Given the description of an element on the screen output the (x, y) to click on. 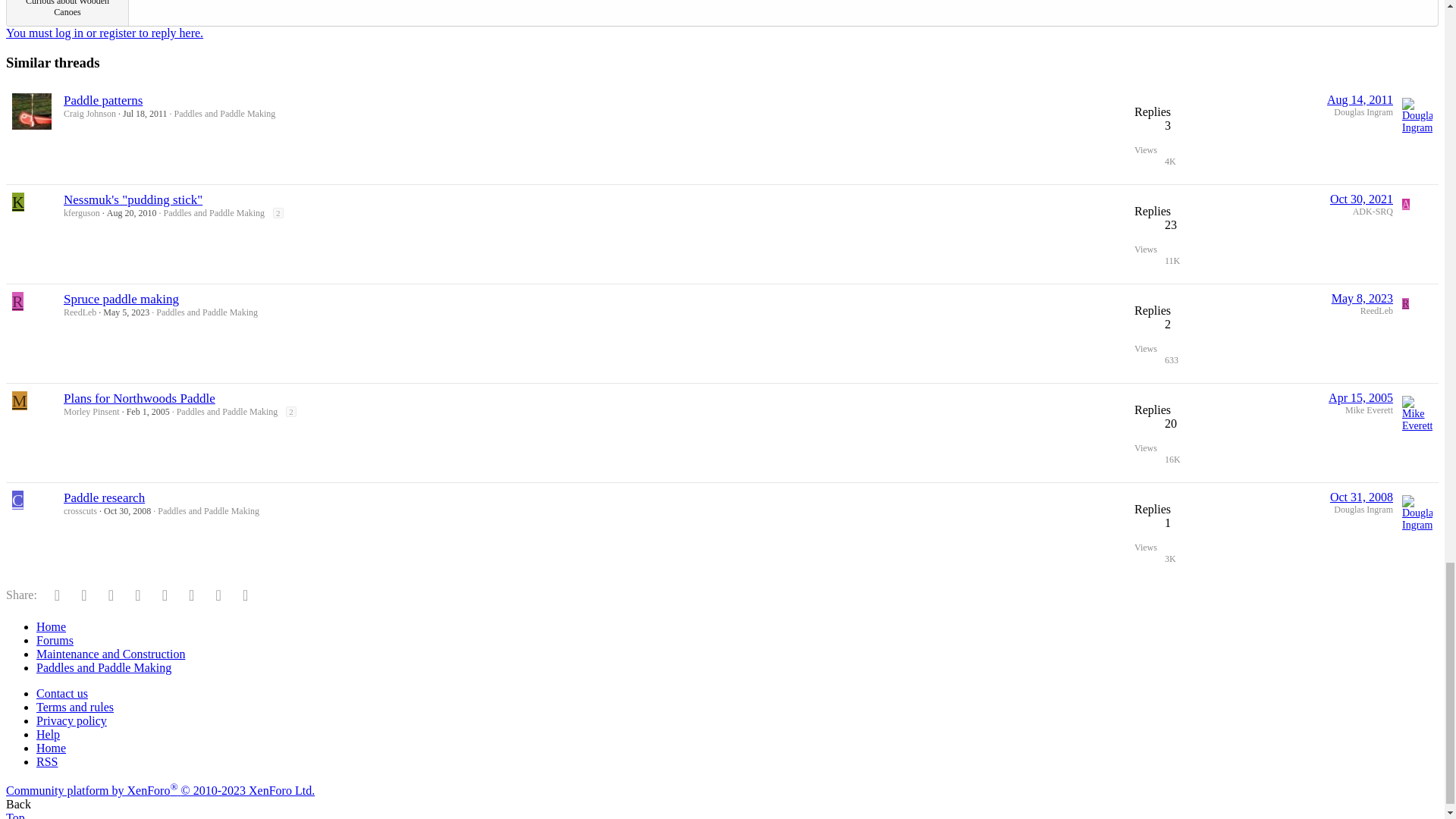
First message reaction score: 0 (1185, 134)
Back (17, 803)
First message reaction score: 0 (1185, 333)
Aug 20, 2010 at 7:40 PM (131, 213)
Aug 14, 2011 at 3:08 PM (1359, 99)
Jul 18, 2011 at 9:26 PM (144, 113)
Oct 30, 2021 at 9:57 AM (1361, 198)
First message reaction score: 0 (1185, 233)
May 5, 2023 at 12:02 PM (126, 312)
